Given the description of an element on the screen output the (x, y) to click on. 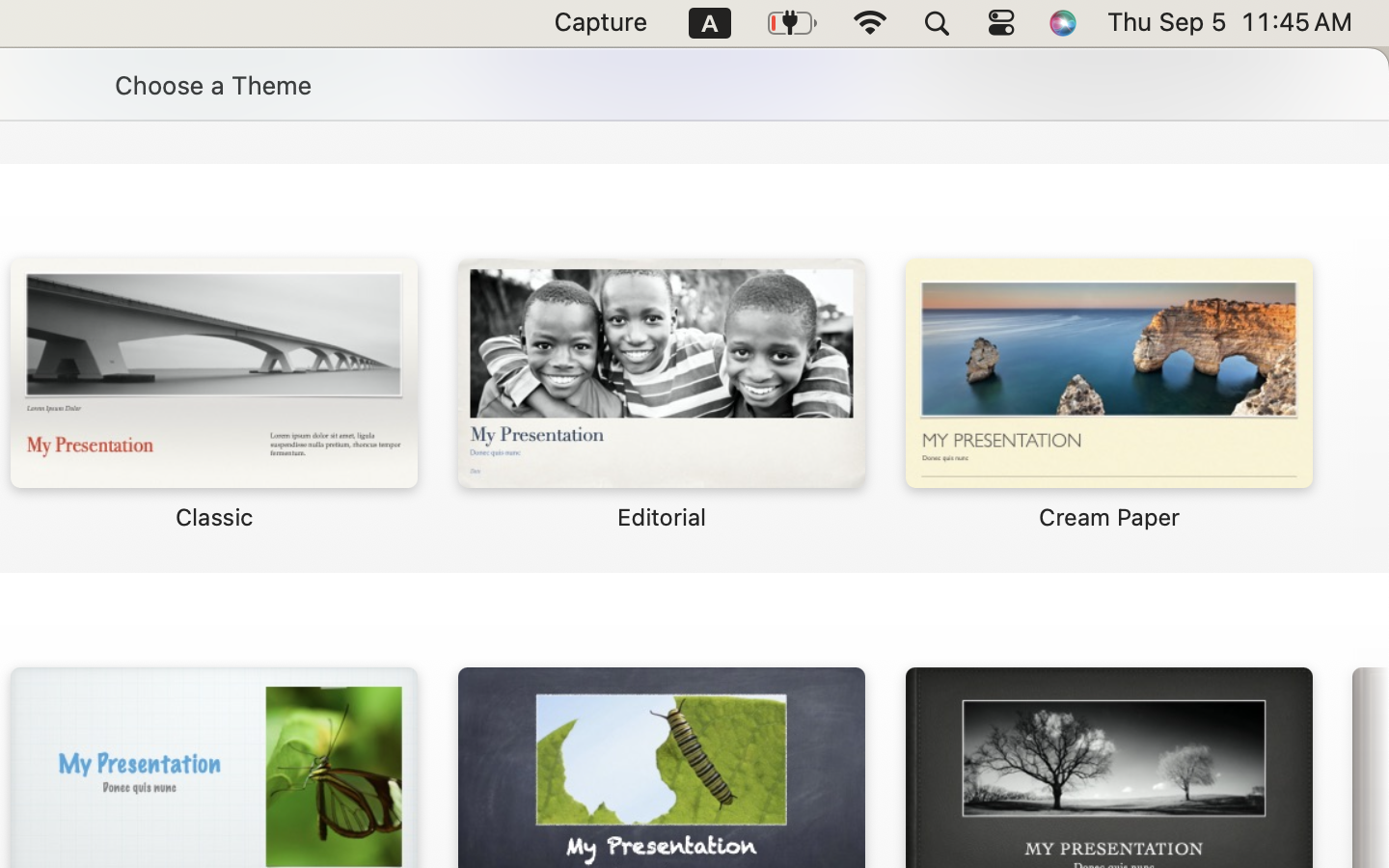
Choose a Theme Element type: AXStaticText (212, 84)
